Given the description of an element on the screen output the (x, y) to click on. 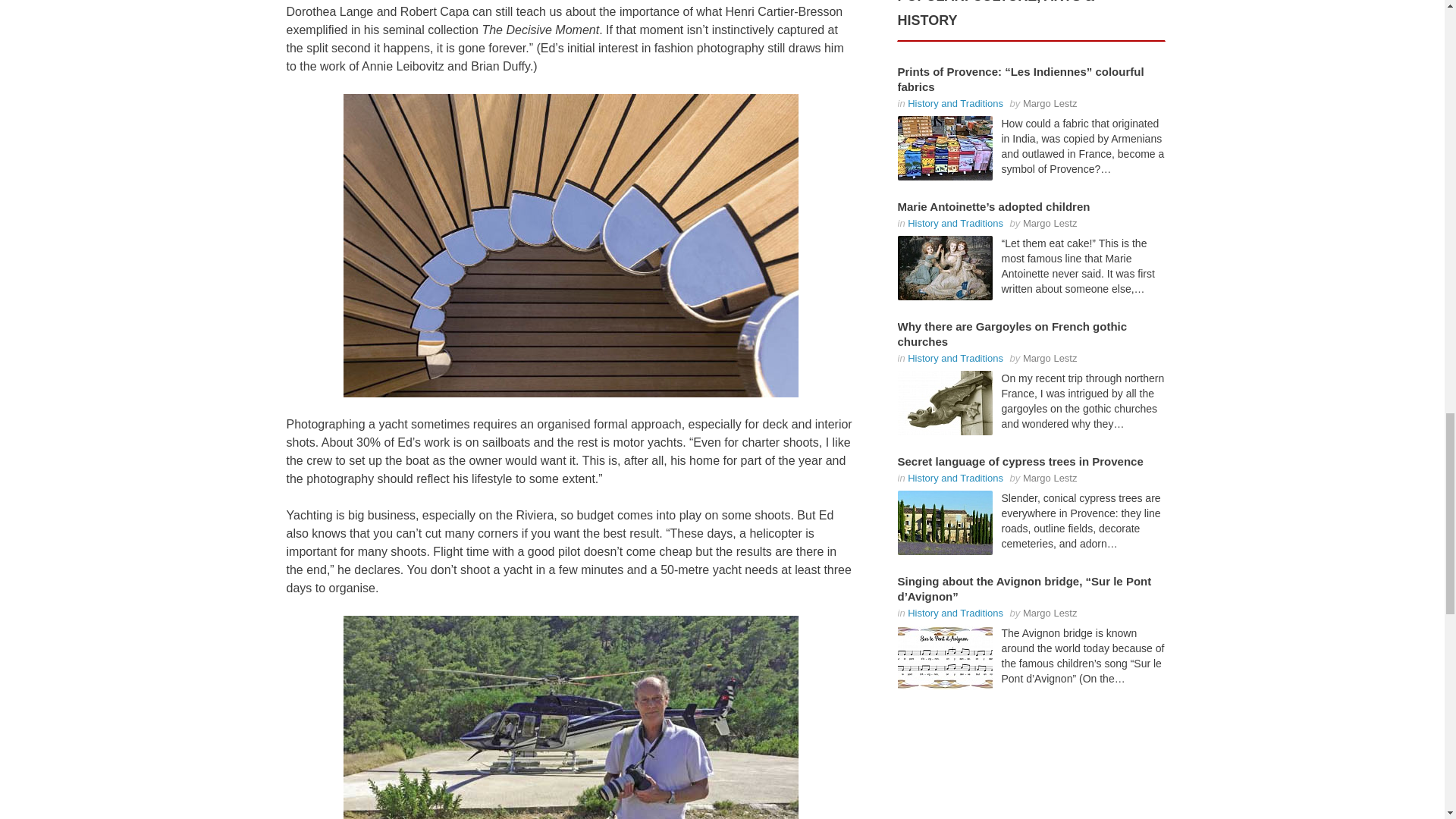
Why there are Gargoyles on French gothic churches (945, 402)
Secret language of cypress trees in Provence (945, 522)
